Given the description of an element on the screen output the (x, y) to click on. 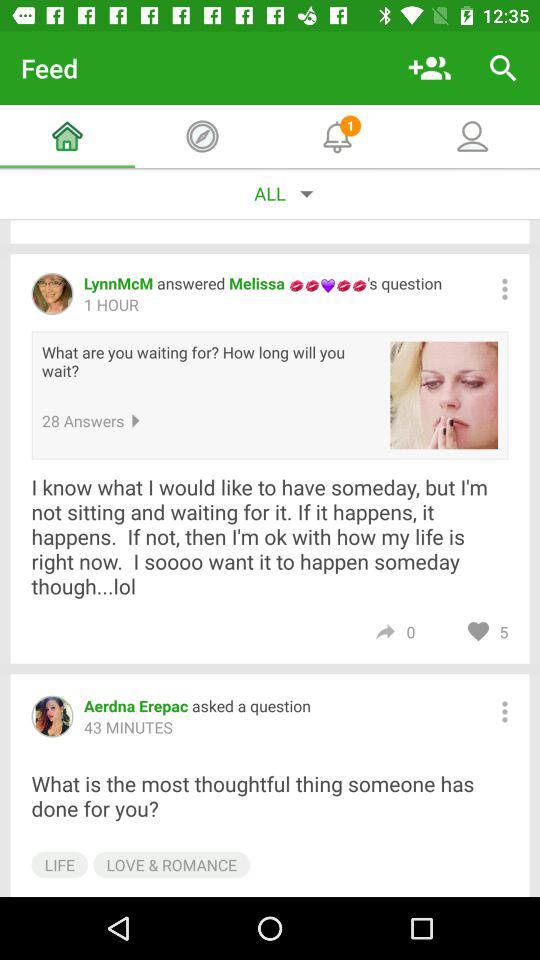
click on the icon beside feed (430, 68)
click on the second more button (504, 711)
